Given the description of an element on the screen output the (x, y) to click on. 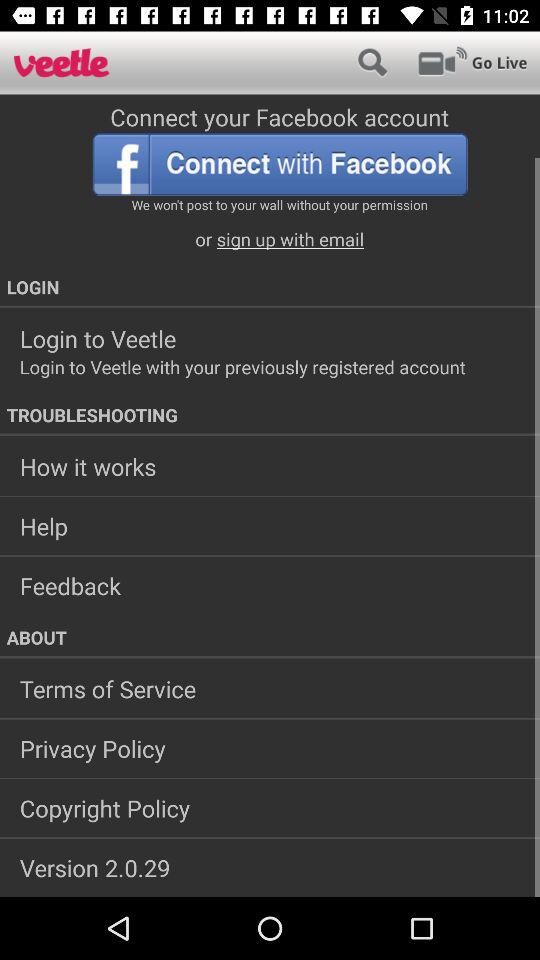
turn on copyright policy app (270, 808)
